Given the description of an element on the screen output the (x, y) to click on. 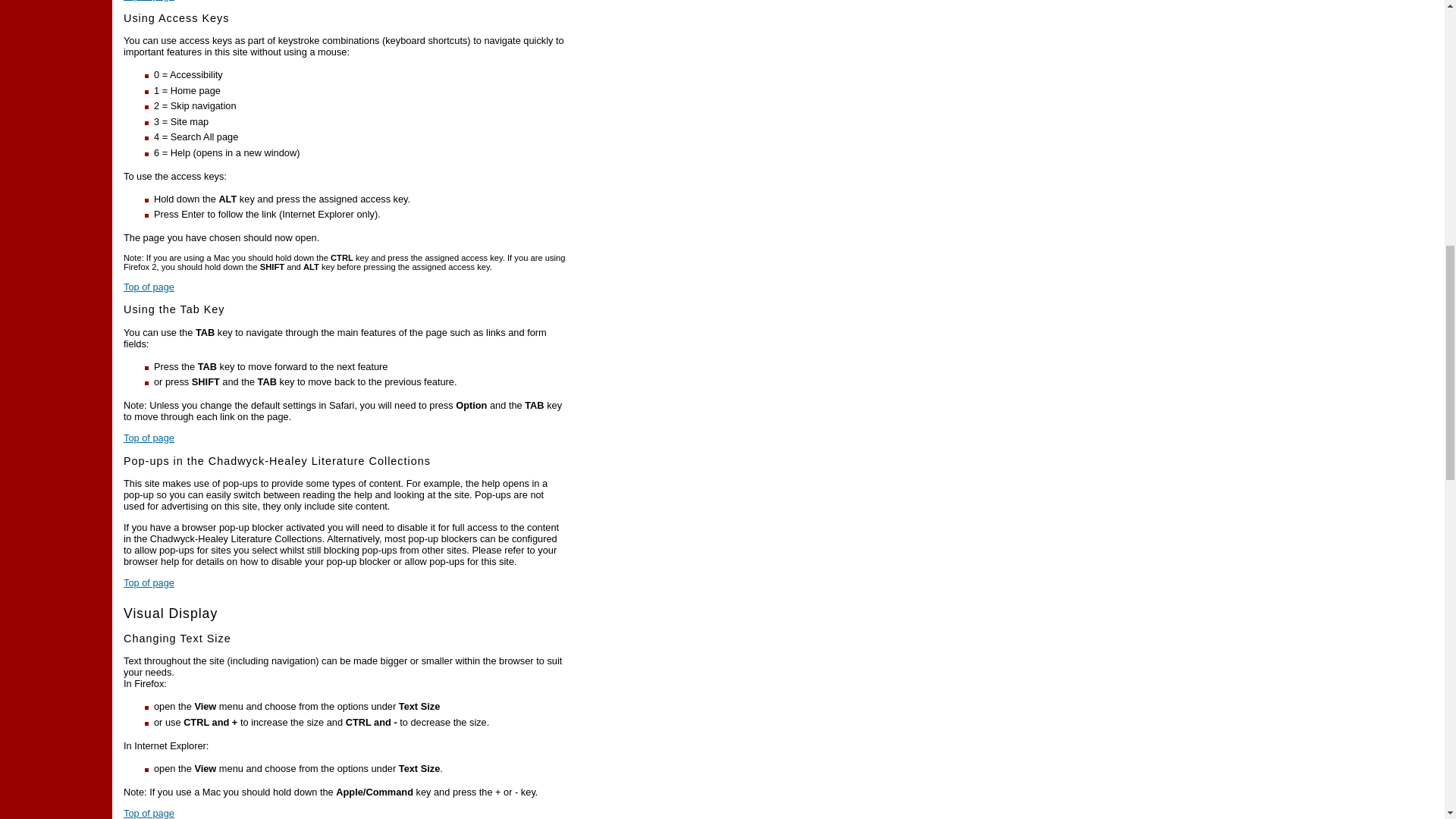
Top of page (148, 582)
Top of page (148, 0)
Top of page (148, 813)
Top of page (148, 437)
Top of page (148, 286)
